Given the description of an element on the screen output the (x, y) to click on. 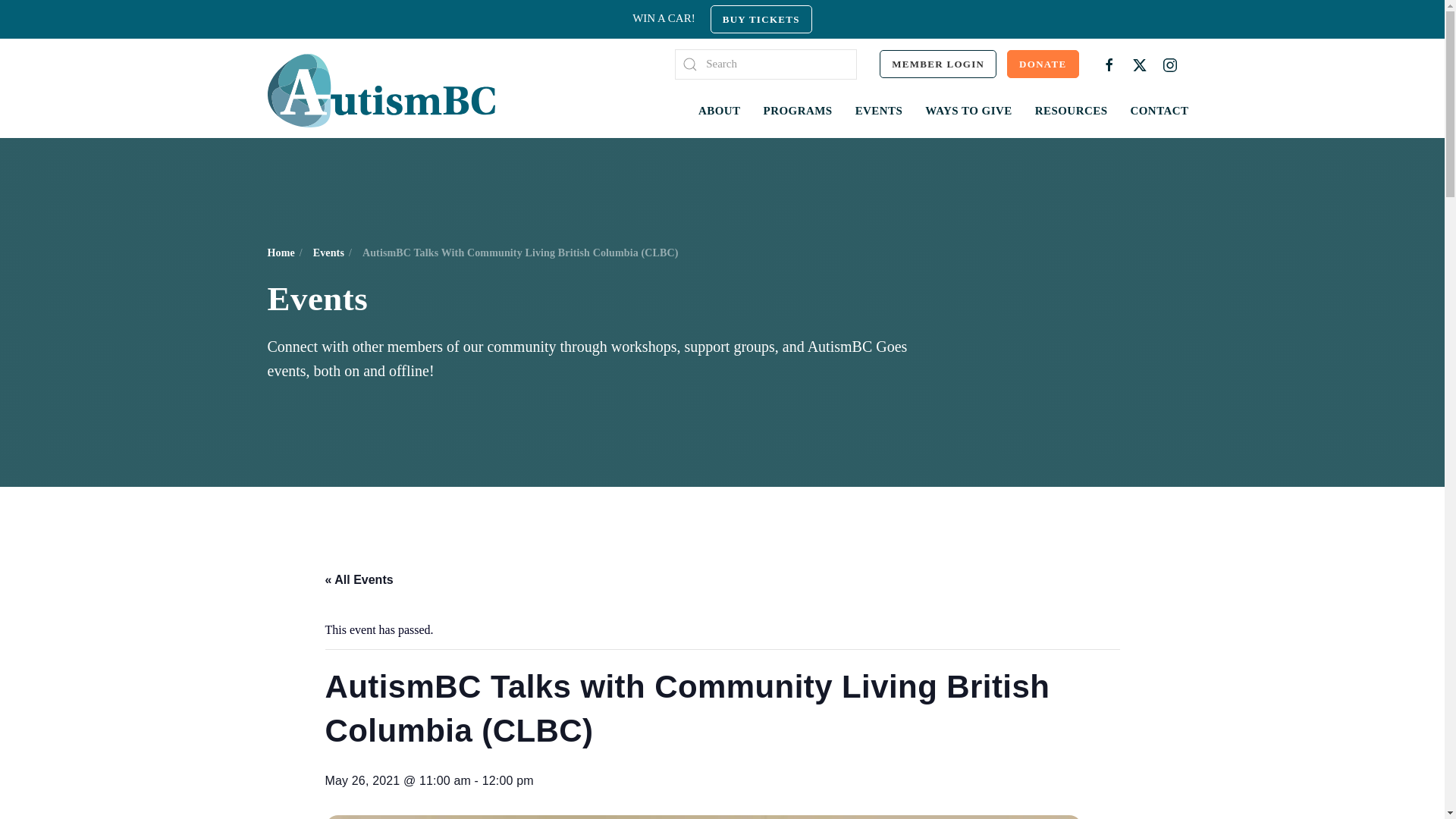
ABOUT (719, 110)
BUY TICKETS (761, 18)
